Given the description of an element on the screen output the (x, y) to click on. 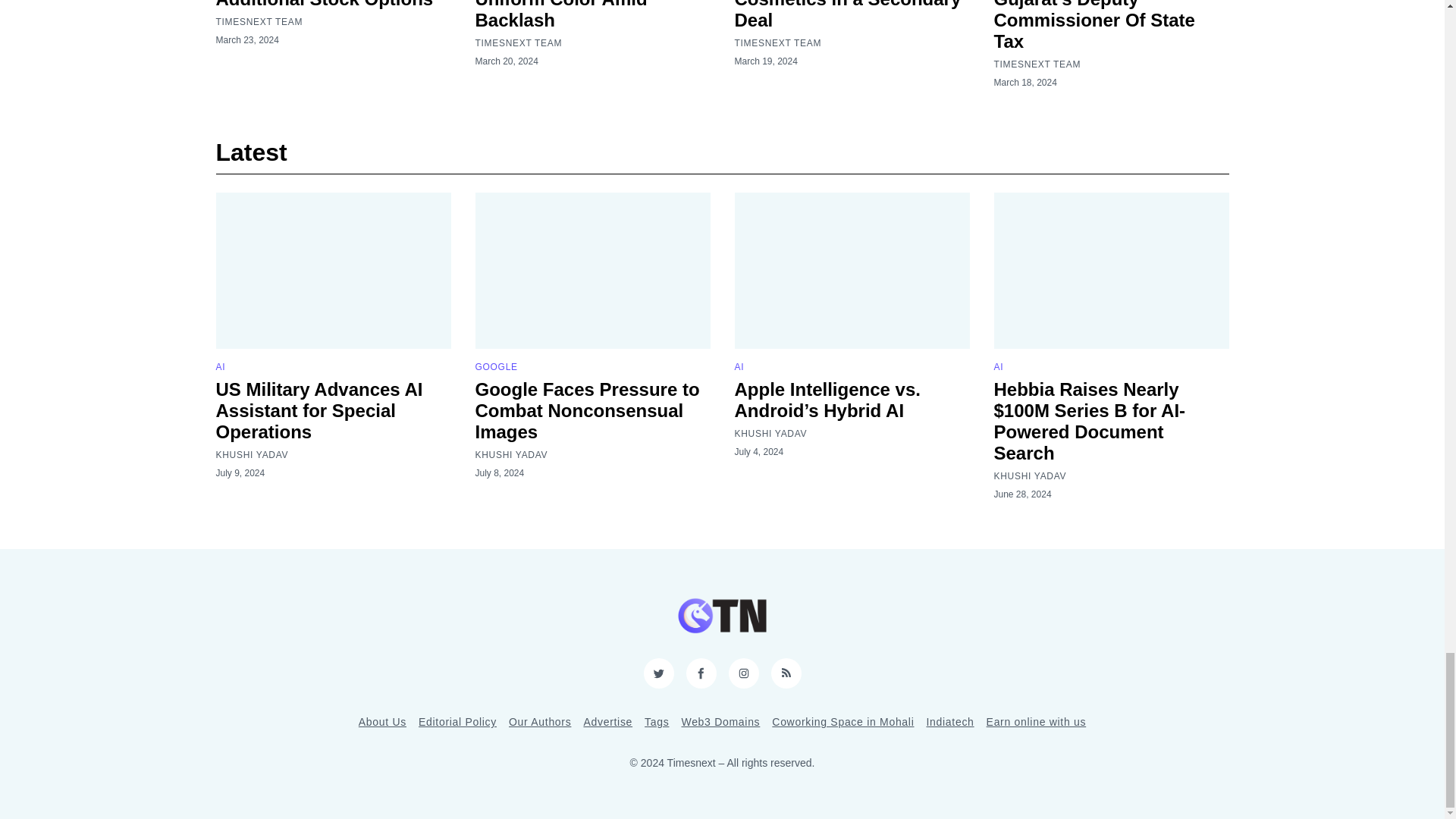
TIMESNEXT TEAM (258, 21)
